Given the description of an element on the screen output the (x, y) to click on. 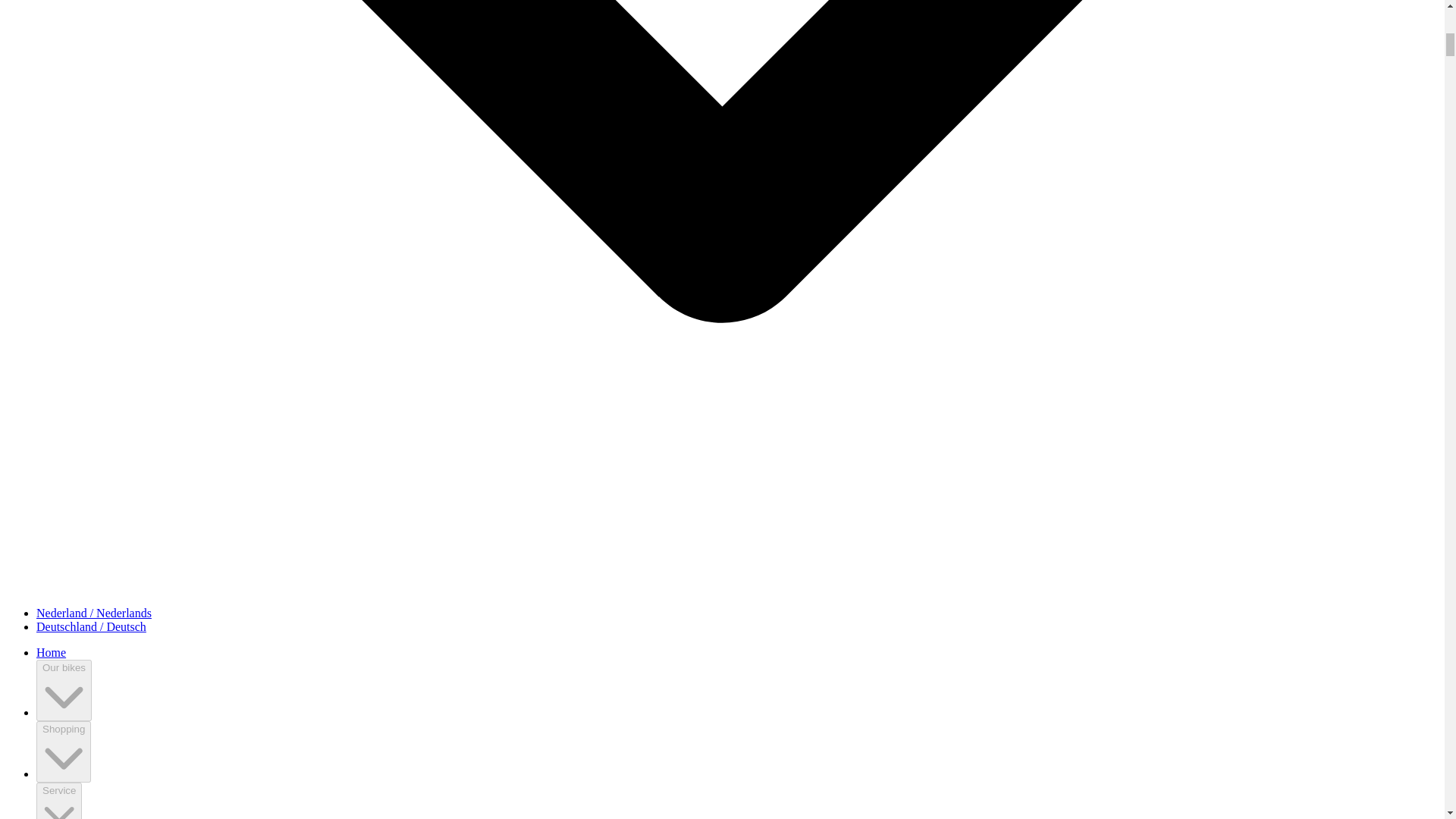
Service (58, 800)
Home (50, 652)
Shopping (63, 751)
Our bikes (63, 690)
